Given the description of an element on the screen output the (x, y) to click on. 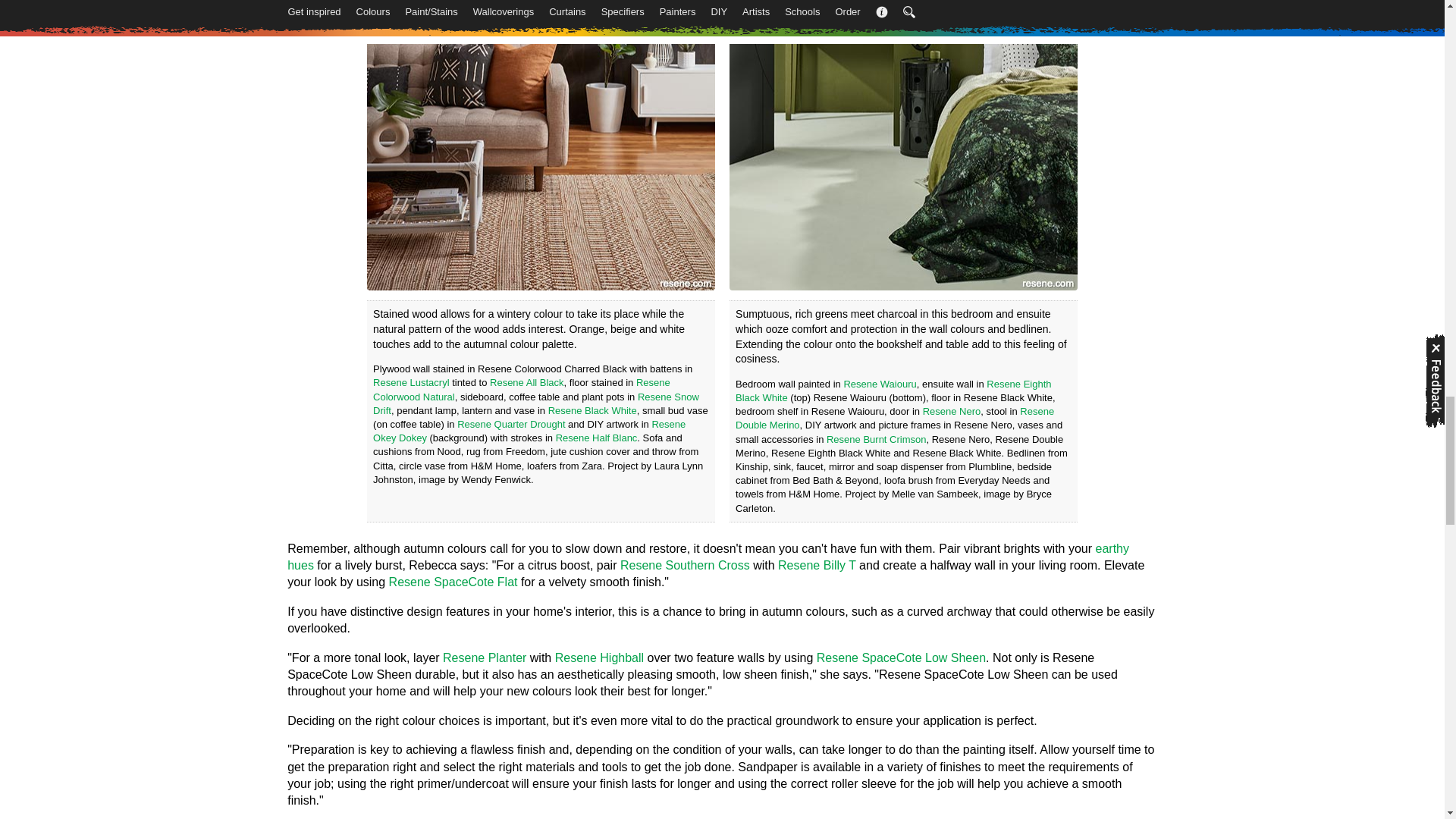
Design with earthy shades in your home interior (707, 556)
